Given the description of an element on the screen output the (x, y) to click on. 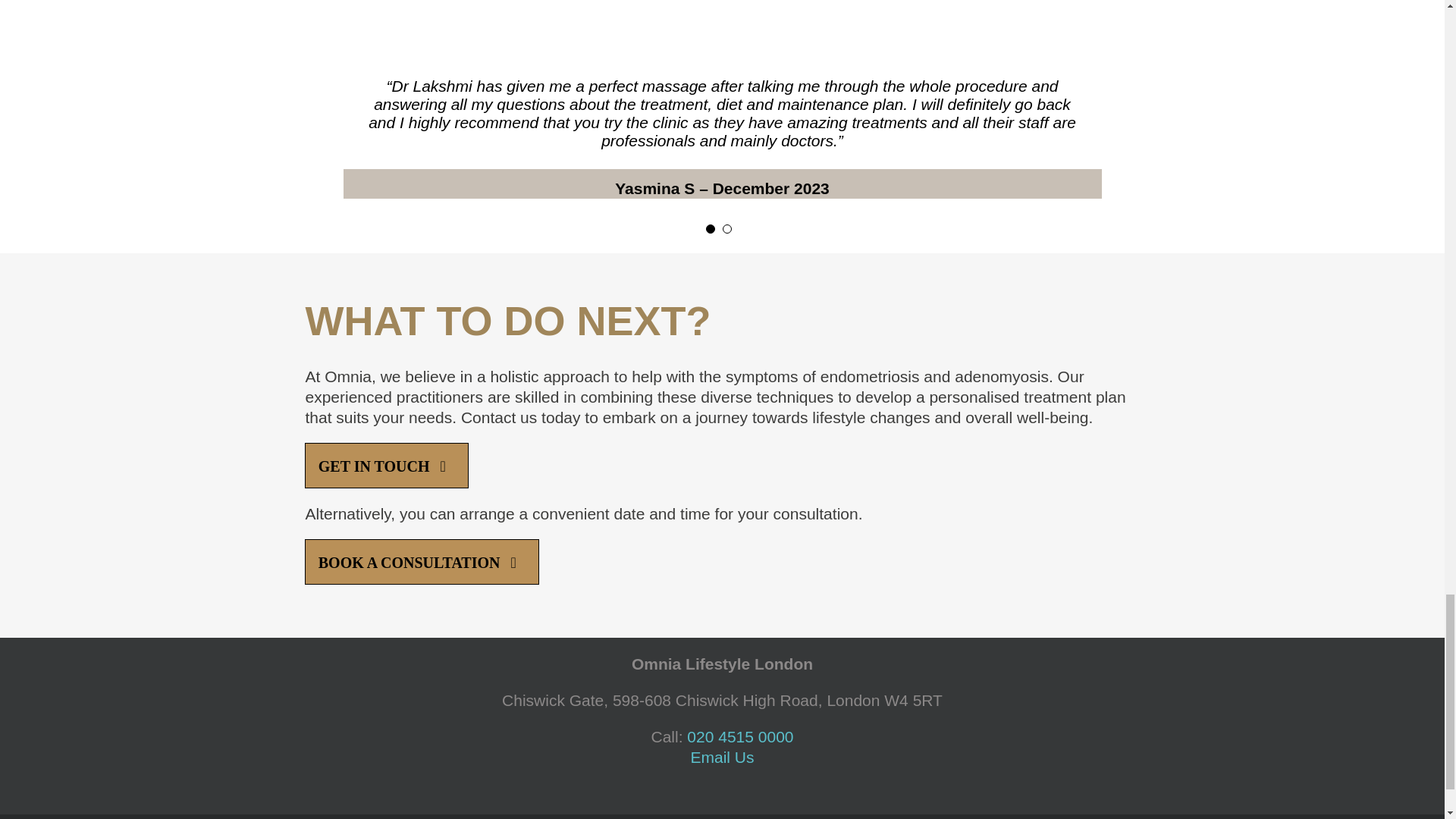
Book a Consultation (421, 561)
Get in touch (385, 465)
